Given the description of an element on the screen output the (x, y) to click on. 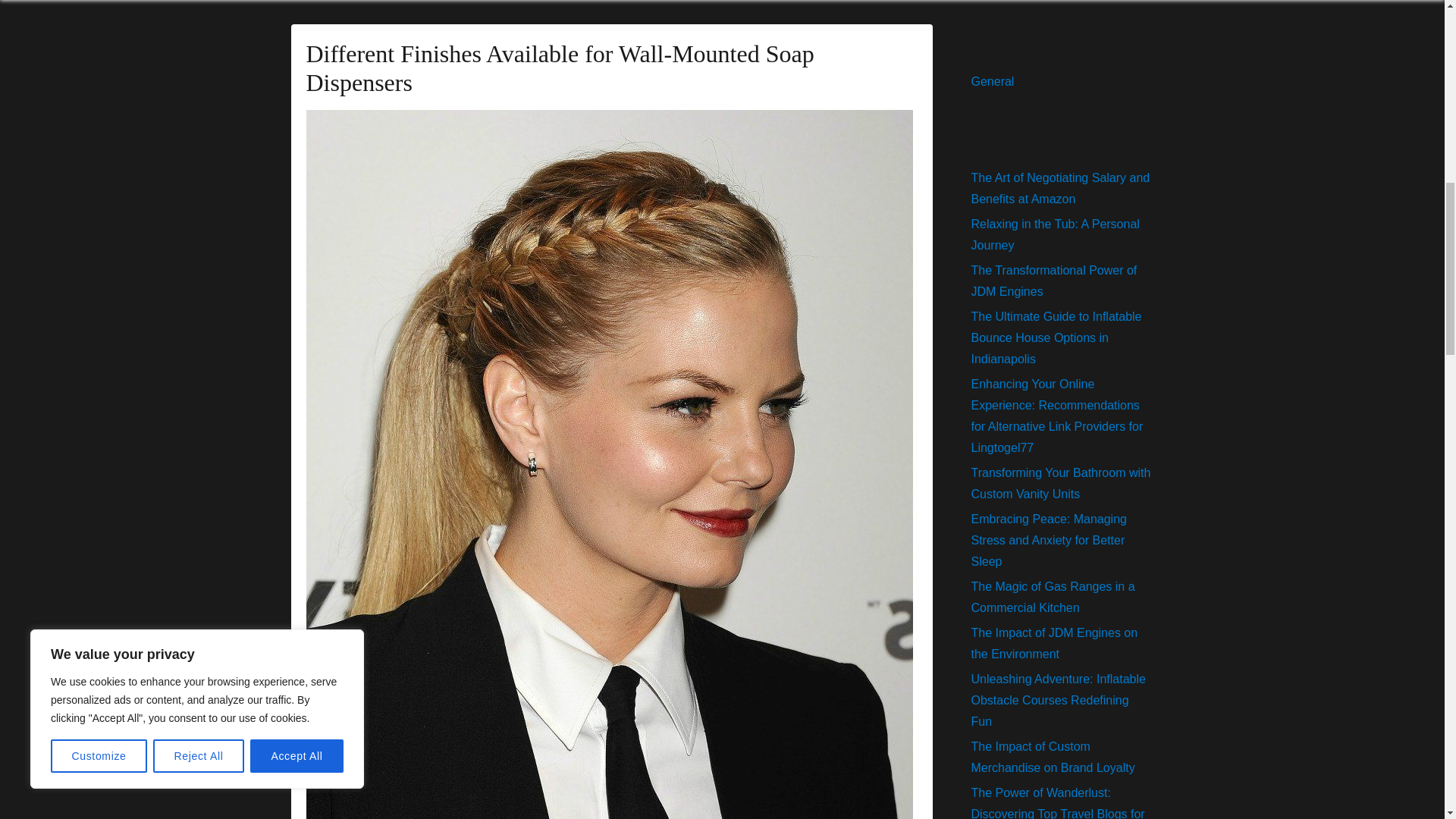
Relaxing in the Tub: A Personal Journey (1054, 234)
The Transformational Power of JDM Engines (1054, 280)
General (992, 81)
The Art of Negotiating Salary and Benefits at Amazon (1060, 188)
